Given the description of an element on the screen output the (x, y) to click on. 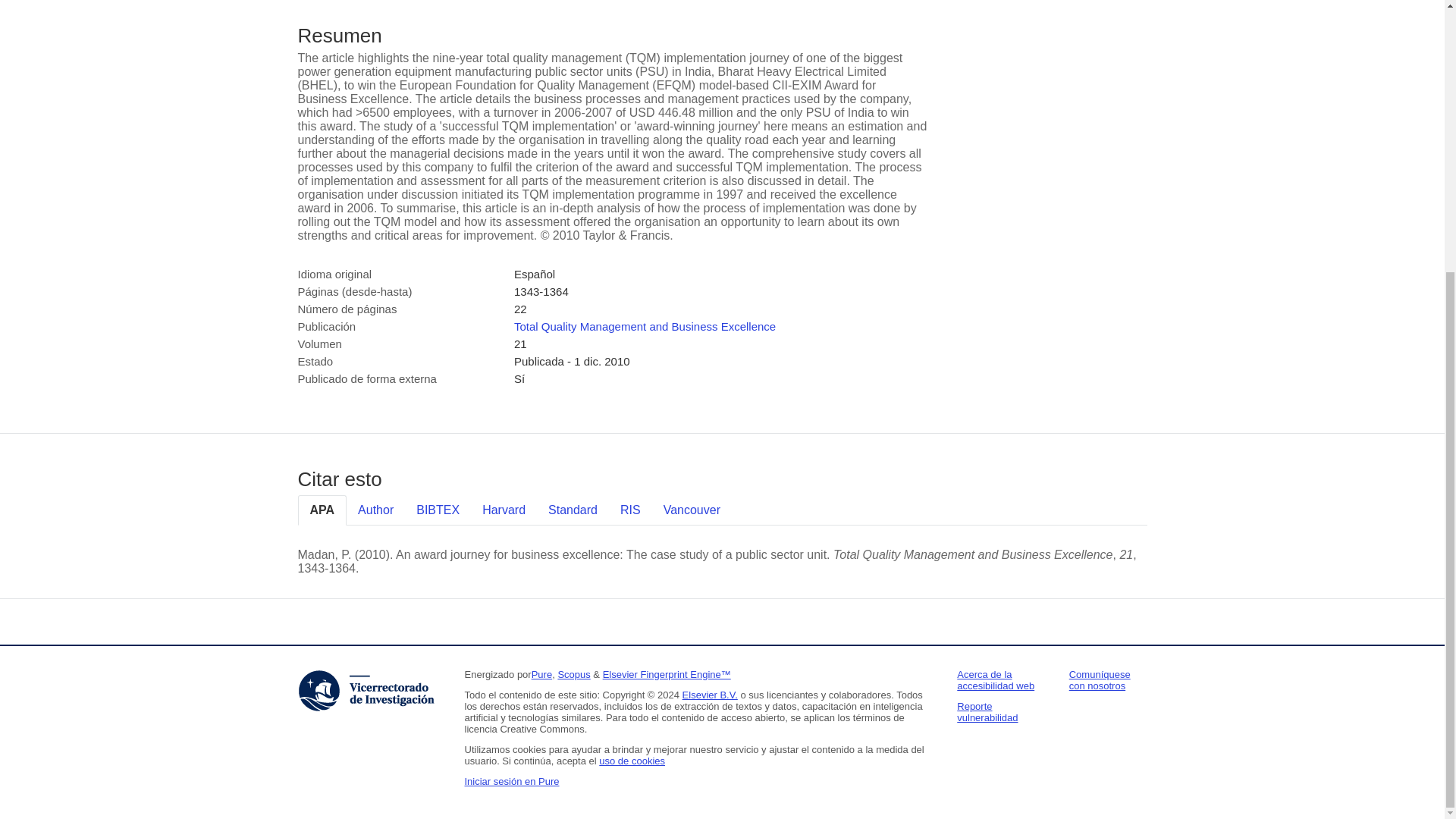
Reporte vulnerabilidad (986, 712)
Total Quality Management and Business Excellence (644, 326)
Scopus (573, 674)
Pure (541, 674)
Acerca de la accesibilidad web (994, 680)
uso de cookies (631, 760)
Elsevier B.V. (710, 695)
